Given the description of an element on the screen output the (x, y) to click on. 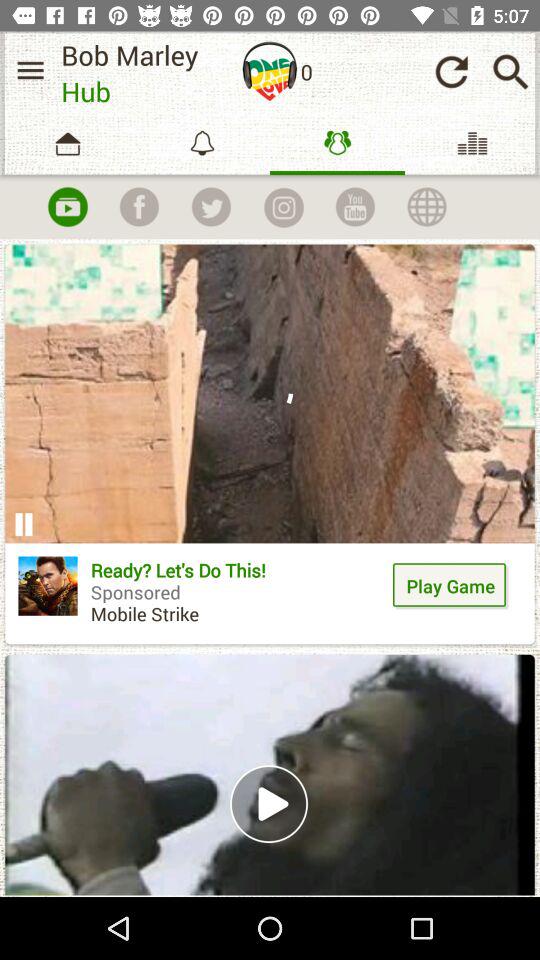
pause video (23, 524)
